Given the description of an element on the screen output the (x, y) to click on. 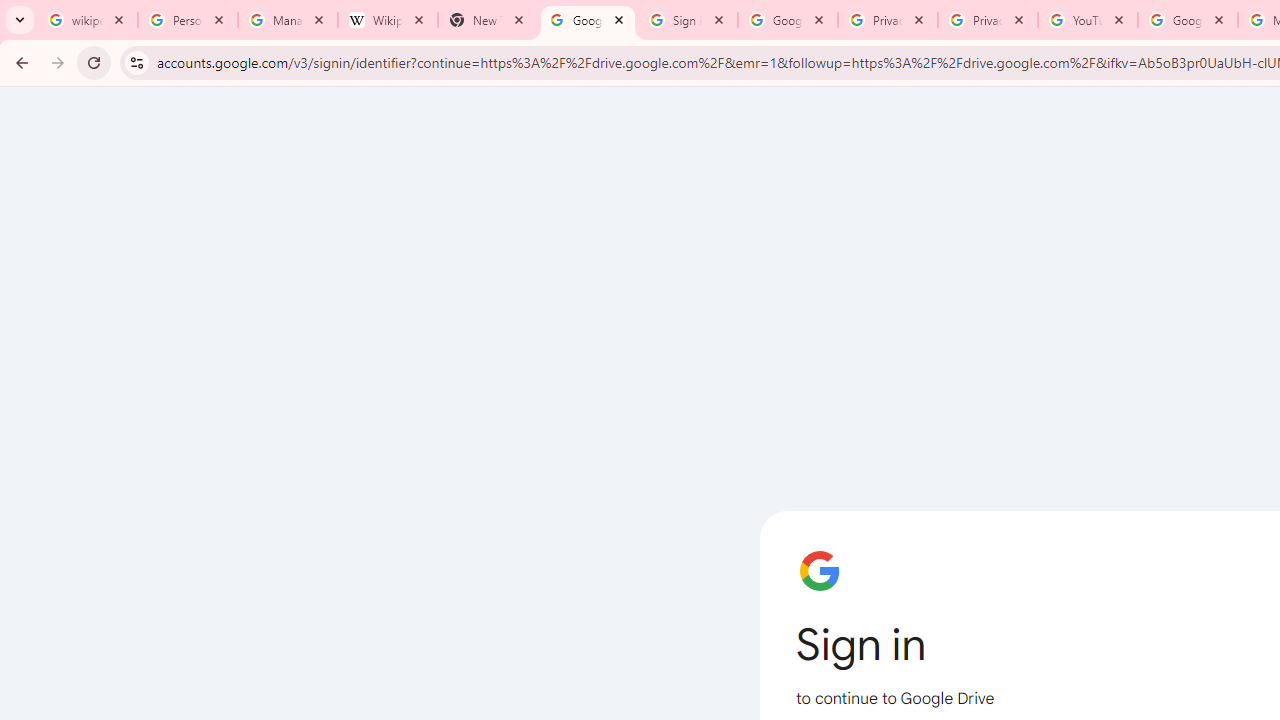
Sign in - Google Accounts (687, 20)
Personalization & Google Search results - Google Search Help (188, 20)
New Tab (487, 20)
Manage your Location History - Google Search Help (287, 20)
